Given the description of an element on the screen output the (x, y) to click on. 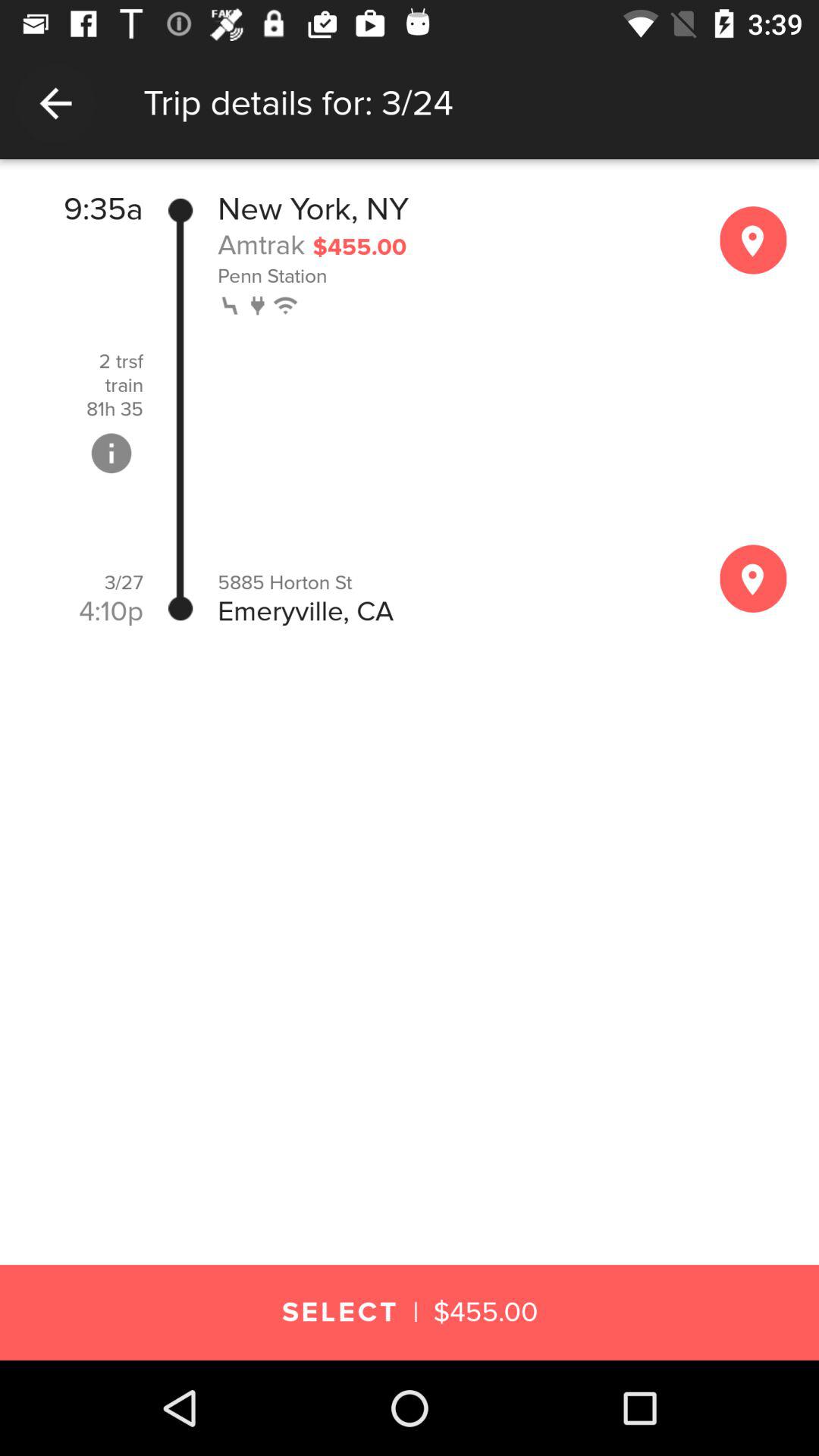
press the icon below the penn station icon (231, 303)
